Given the description of an element on the screen output the (x, y) to click on. 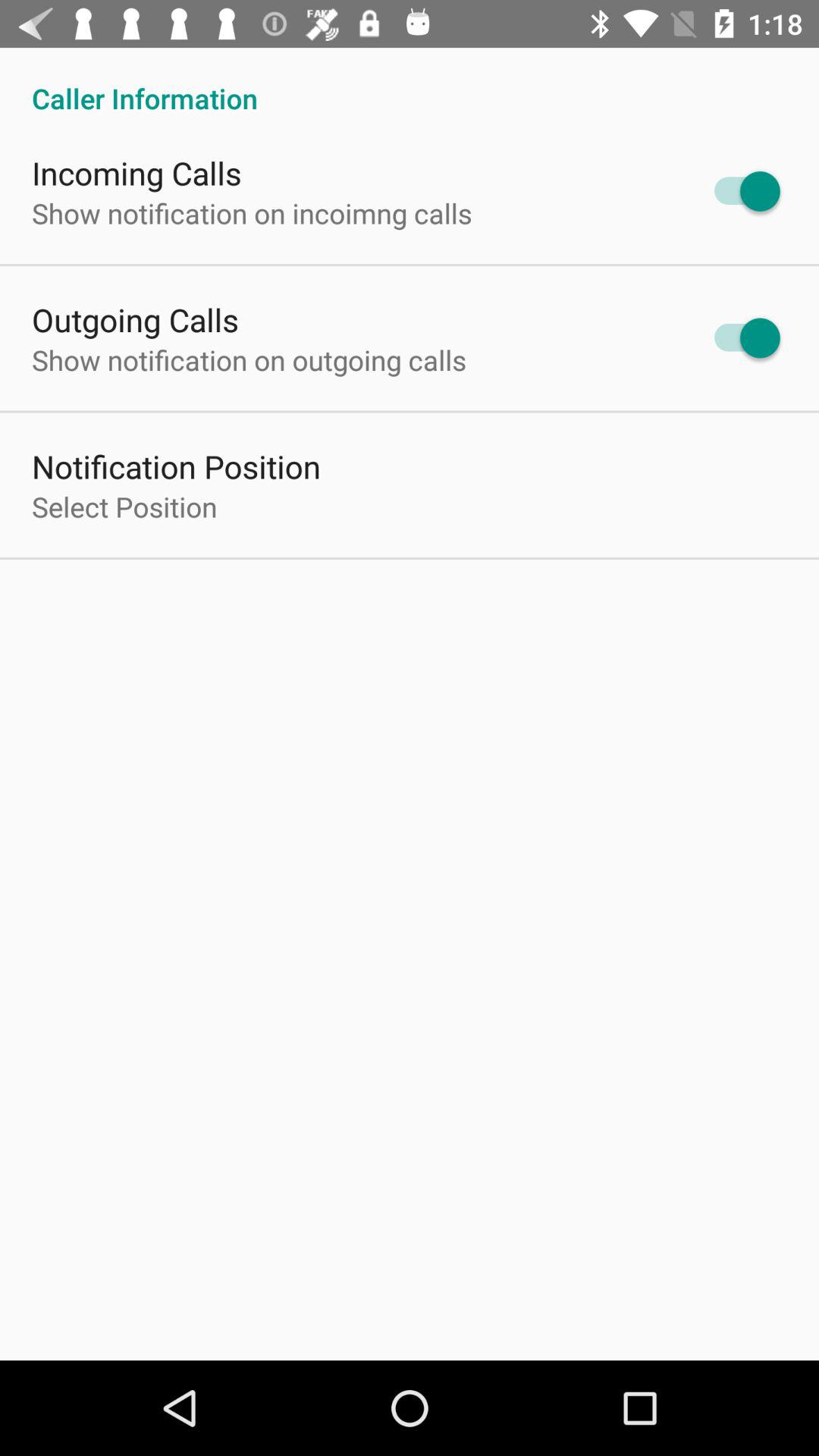
press the icon above incoming calls icon (409, 82)
